Given the description of an element on the screen output the (x, y) to click on. 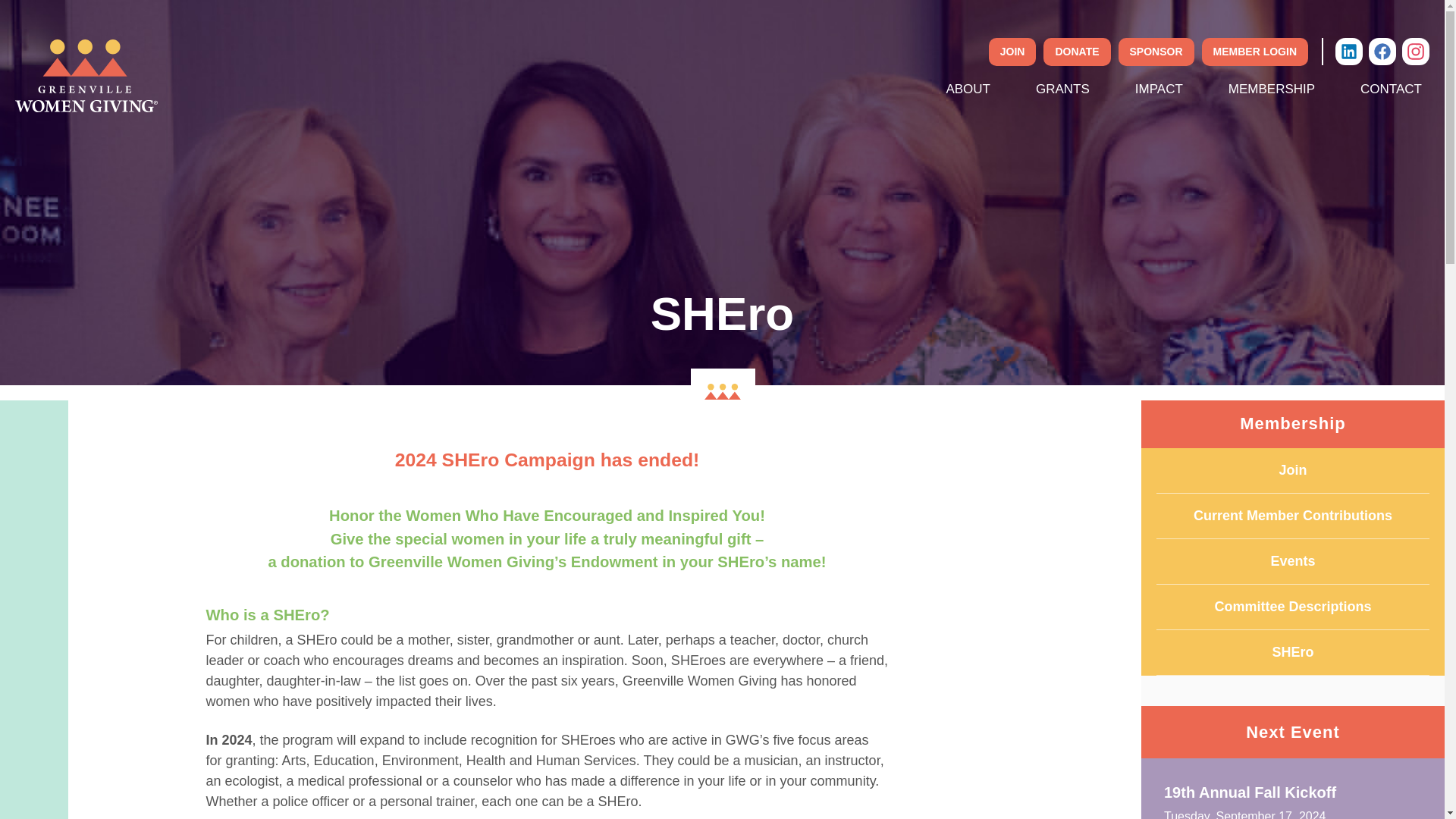
Greenville Women Giving (85, 75)
Committee Descriptions (1292, 606)
SPONSOR (1155, 51)
SHEro (1292, 652)
JOIN (1012, 51)
DONATE (1076, 51)
ABOUT (968, 89)
Instagram (1415, 50)
GRANTS (1062, 89)
